Given the description of an element on the screen output the (x, y) to click on. 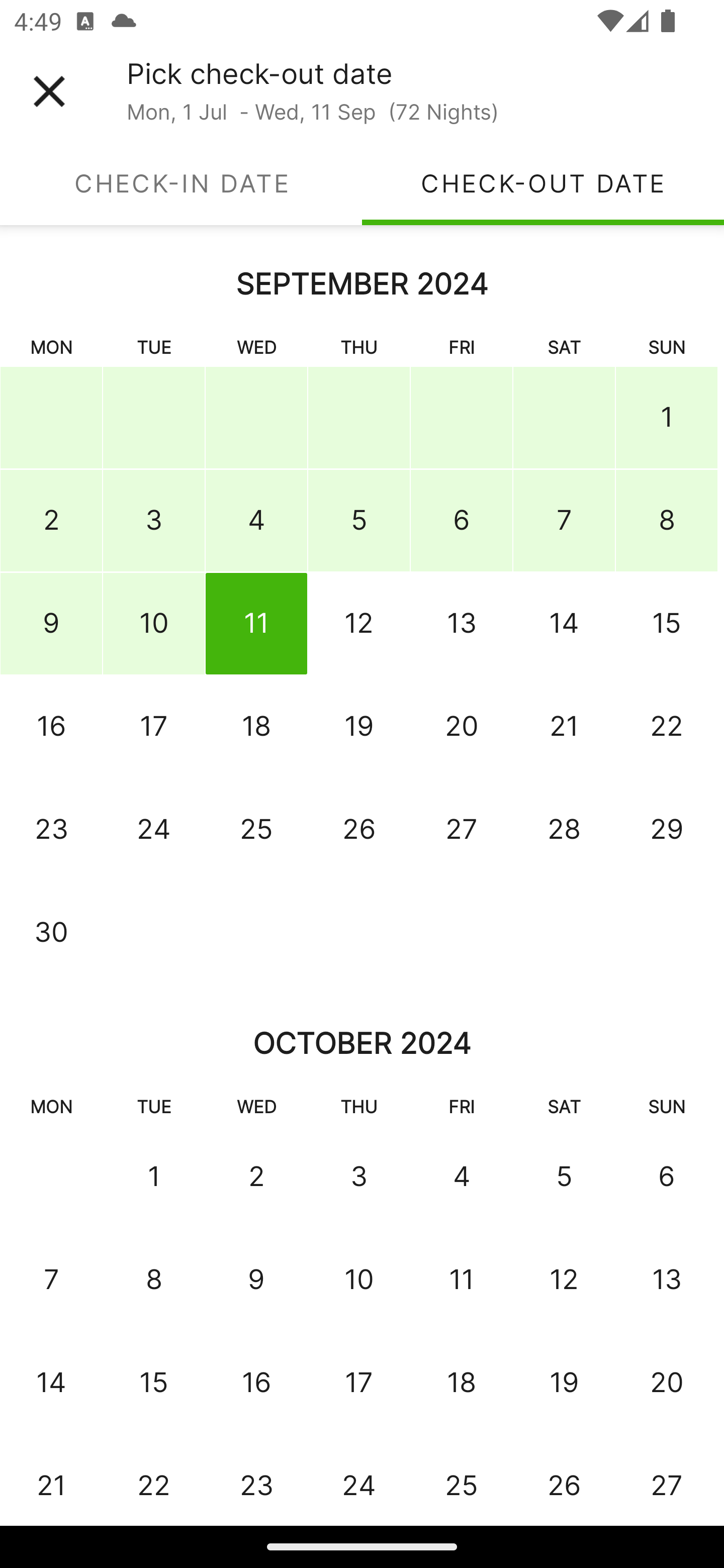
Check-in Date CHECK-IN DATE (181, 183)
